Given the description of an element on the screen output the (x, y) to click on. 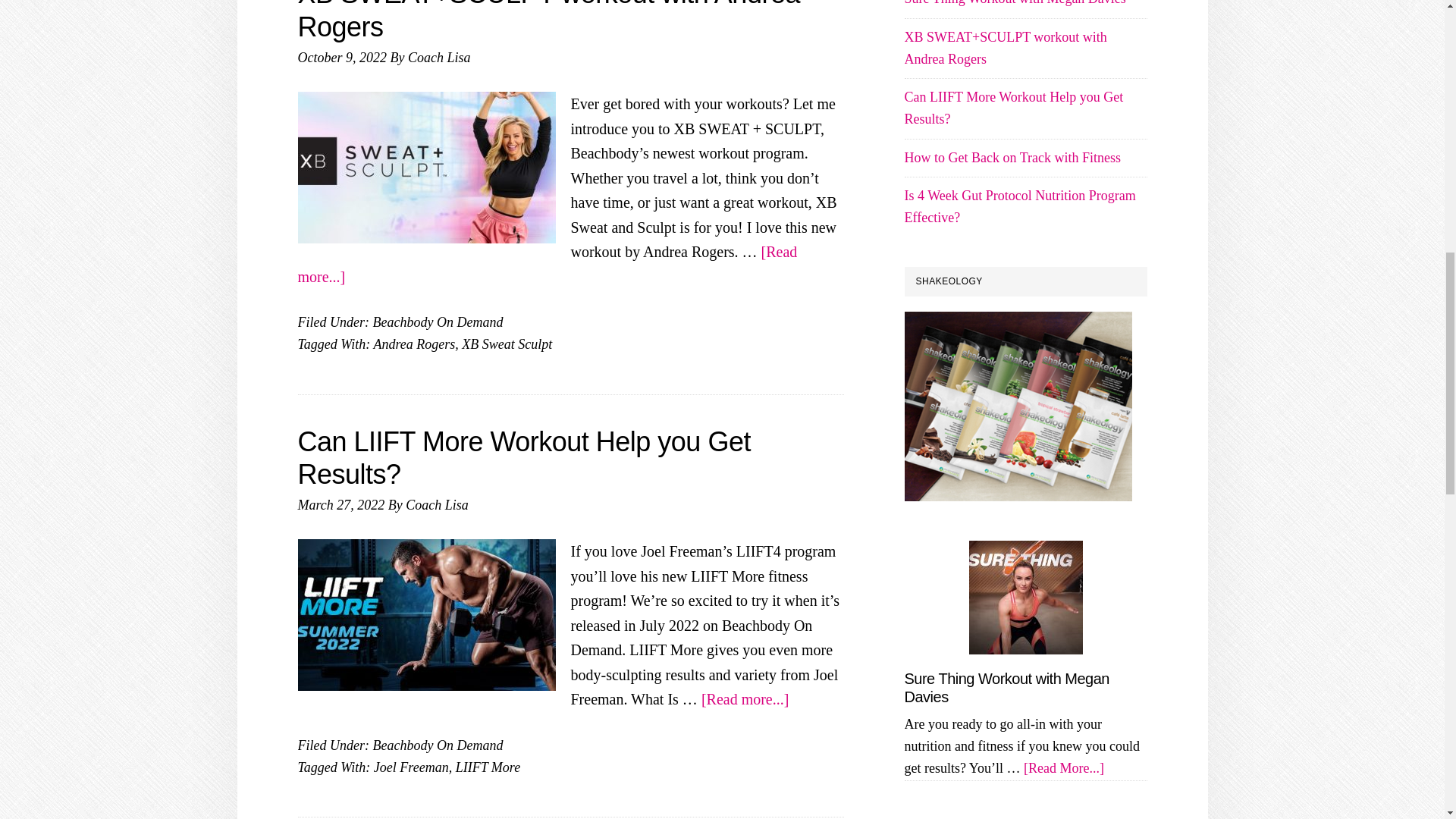
Coach Lisa (437, 504)
Beachbody On Demand (437, 322)
XB Sweat Sculpt (506, 344)
Joel Freeman (411, 767)
Can LIIFT More Workout Help you Get Results? (523, 457)
Beachbody On Demand (437, 744)
Andrea Rogers (414, 344)
LIIFT More (488, 767)
Coach Lisa (438, 57)
